Given the description of an element on the screen output the (x, y) to click on. 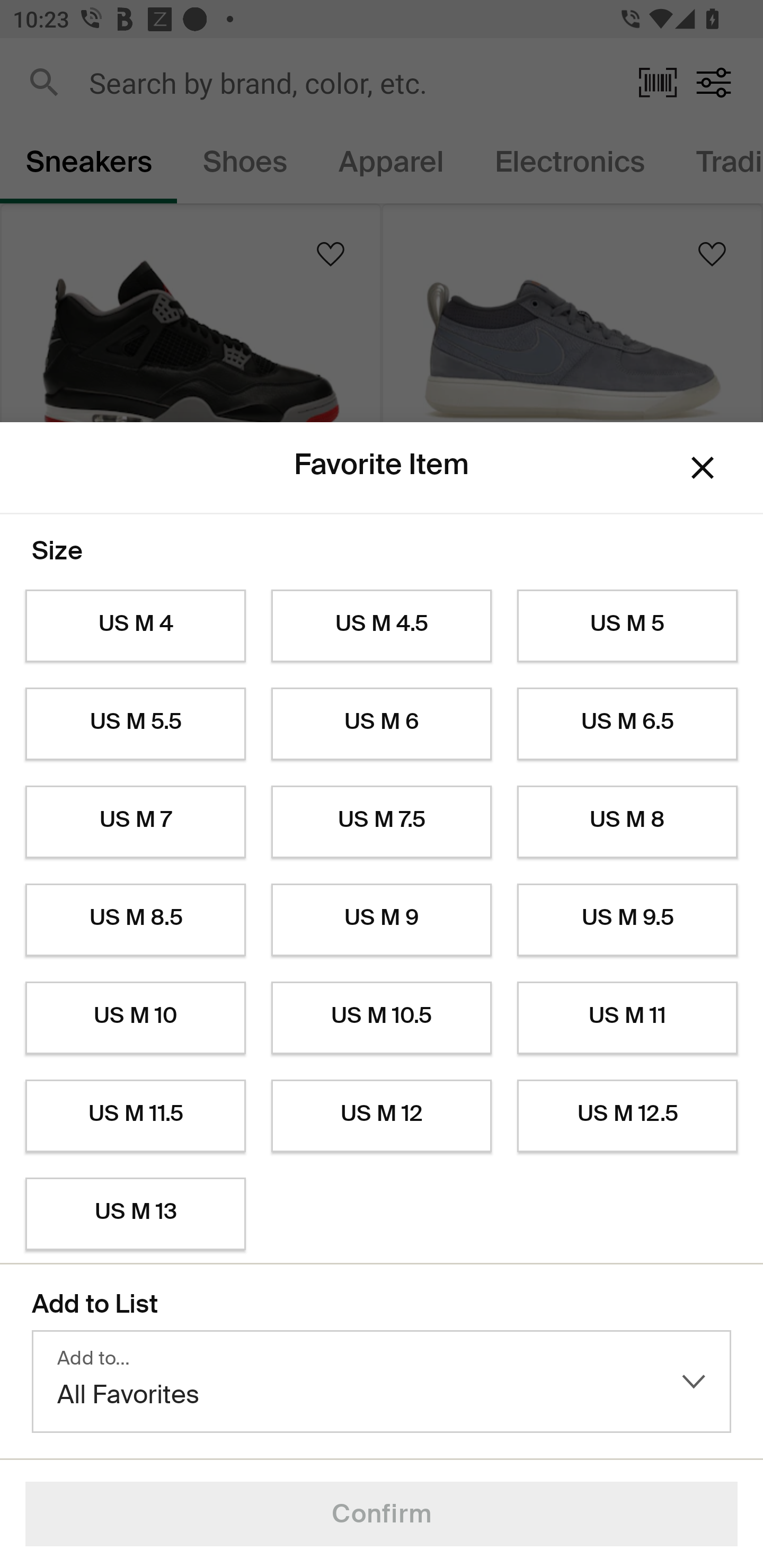
Dismiss (702, 467)
US M 4 (135, 626)
US M 4.5 (381, 626)
US M 5 (627, 626)
US M 5.5 (135, 724)
US M 6 (381, 724)
US M 6.5 (627, 724)
US M 7 (135, 822)
US M 7.5 (381, 822)
US M 8 (627, 822)
US M 8.5 (135, 919)
US M 9 (381, 919)
US M 9.5 (627, 919)
US M 10 (135, 1018)
US M 10.5 (381, 1018)
US M 11 (627, 1018)
US M 11.5 (135, 1116)
US M 12 (381, 1116)
US M 12.5 (627, 1116)
US M 13 (135, 1214)
Add to… All Favorites (381, 1381)
Confirm (381, 1513)
